Given the description of an element on the screen output the (x, y) to click on. 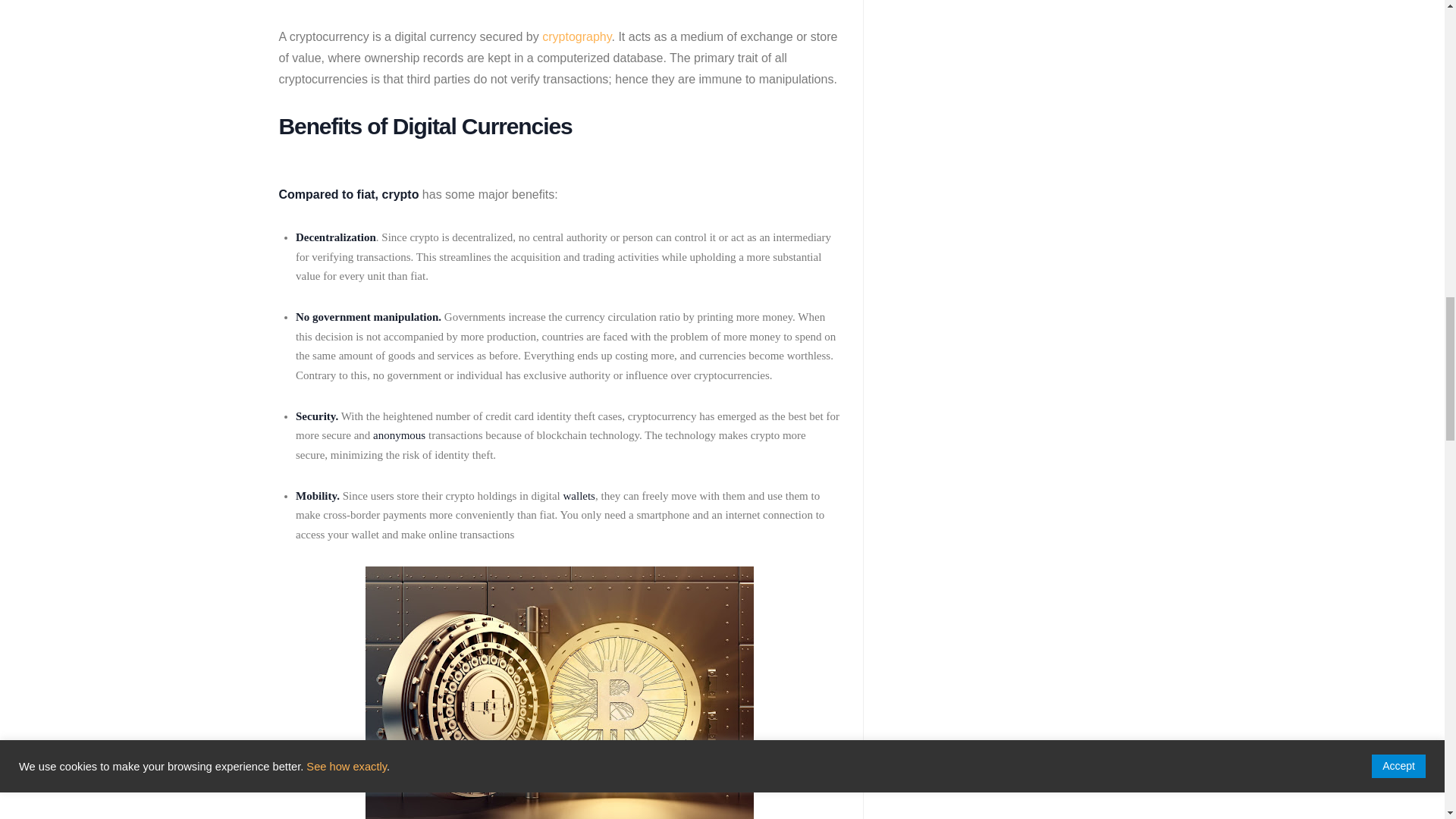
cryptography (576, 36)
Decentralization (335, 236)
